Given the description of an element on the screen output the (x, y) to click on. 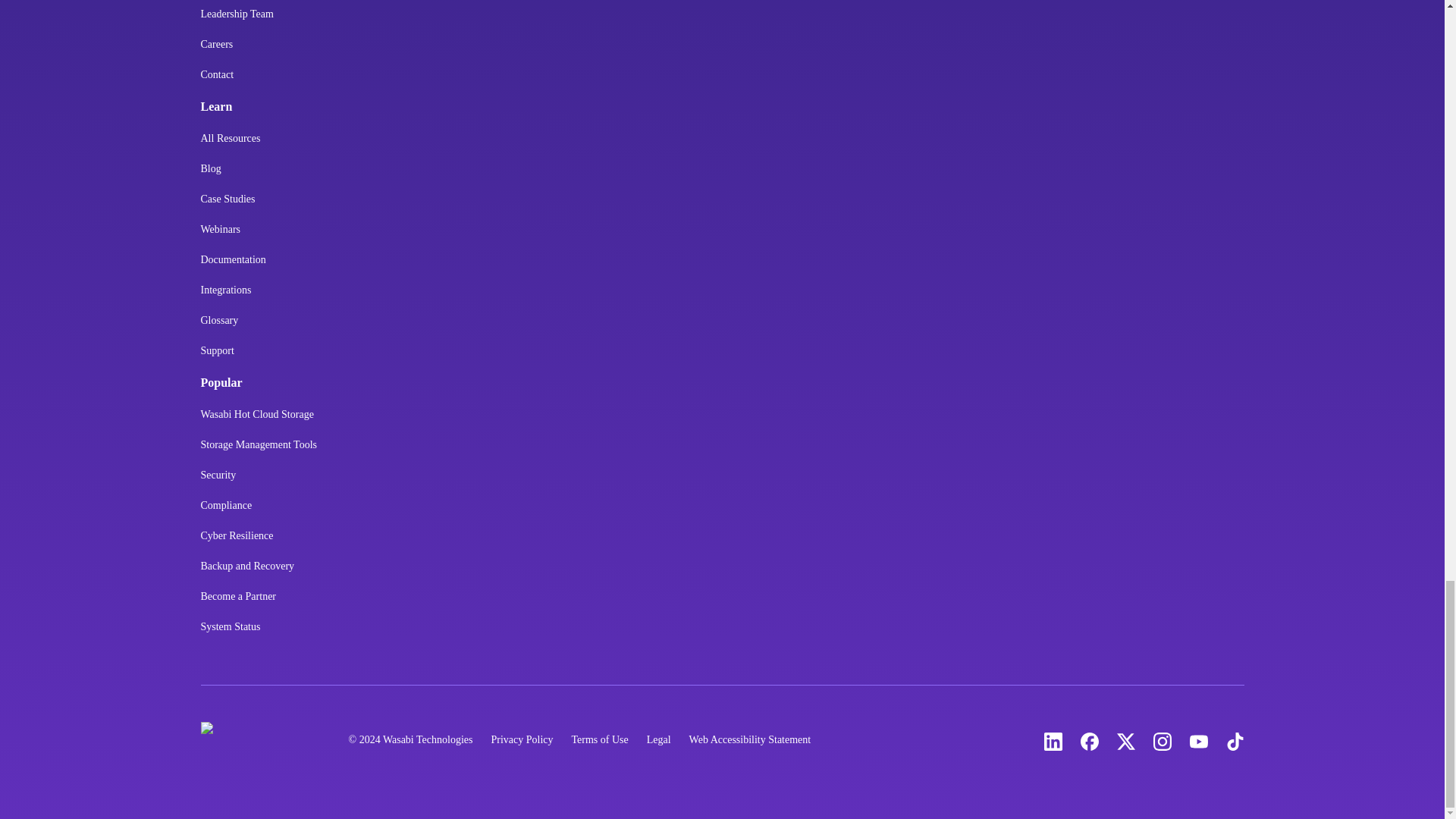
All Resources (230, 144)
Storage Management Tools (258, 450)
Cyber Resilience (236, 542)
Become a Partner (238, 603)
Privacy Policy (521, 740)
Compliance (225, 511)
Contact (216, 81)
Case Studies (227, 205)
Documentation (232, 265)
Legal (658, 740)
